Given the description of an element on the screen output the (x, y) to click on. 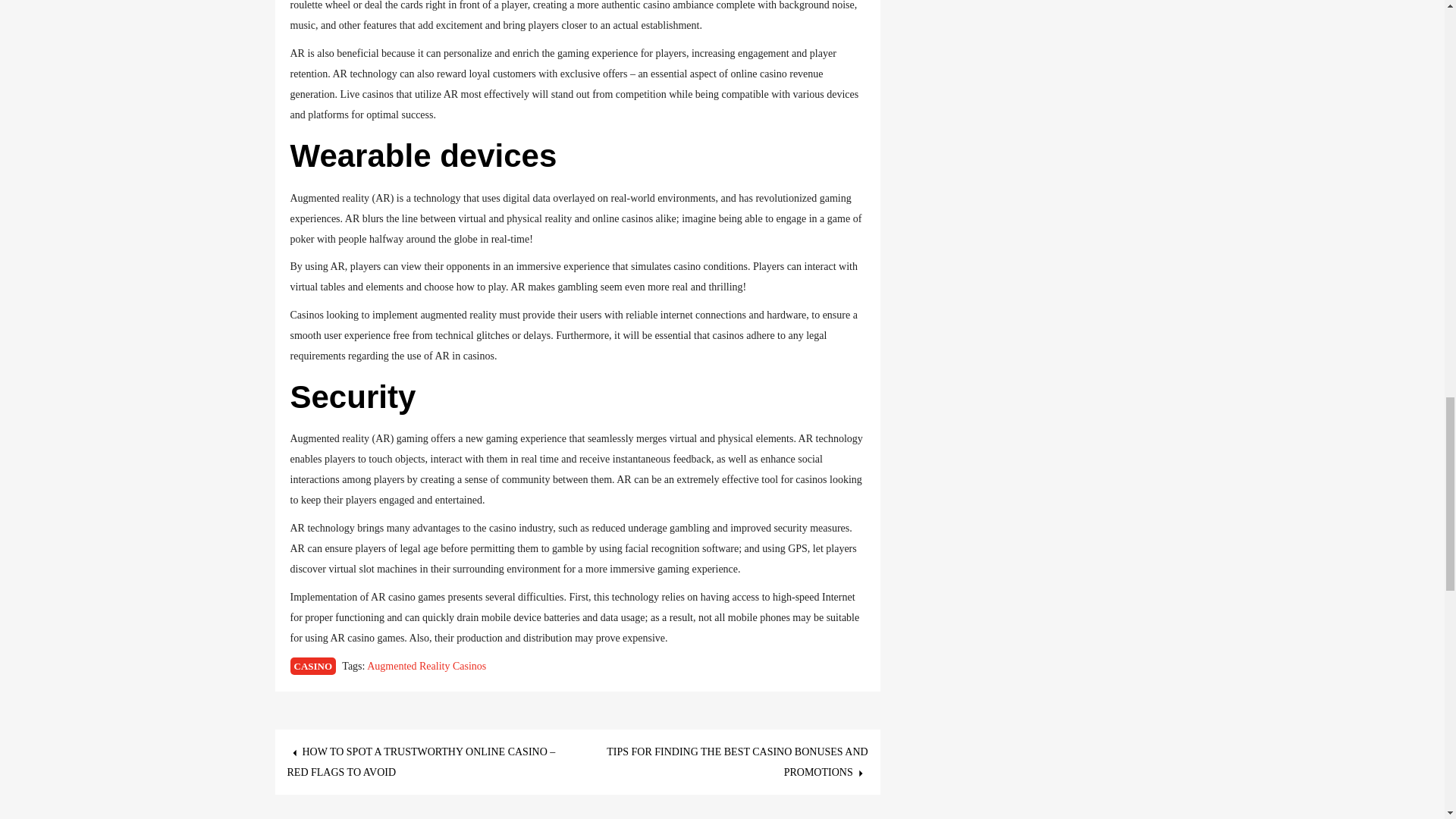
TIPS FOR FINDING THE BEST CASINO BONUSES AND PROMOTIONS (737, 762)
Augmented Reality Casinos (426, 665)
CASINO (312, 665)
